Given the description of an element on the screen output the (x, y) to click on. 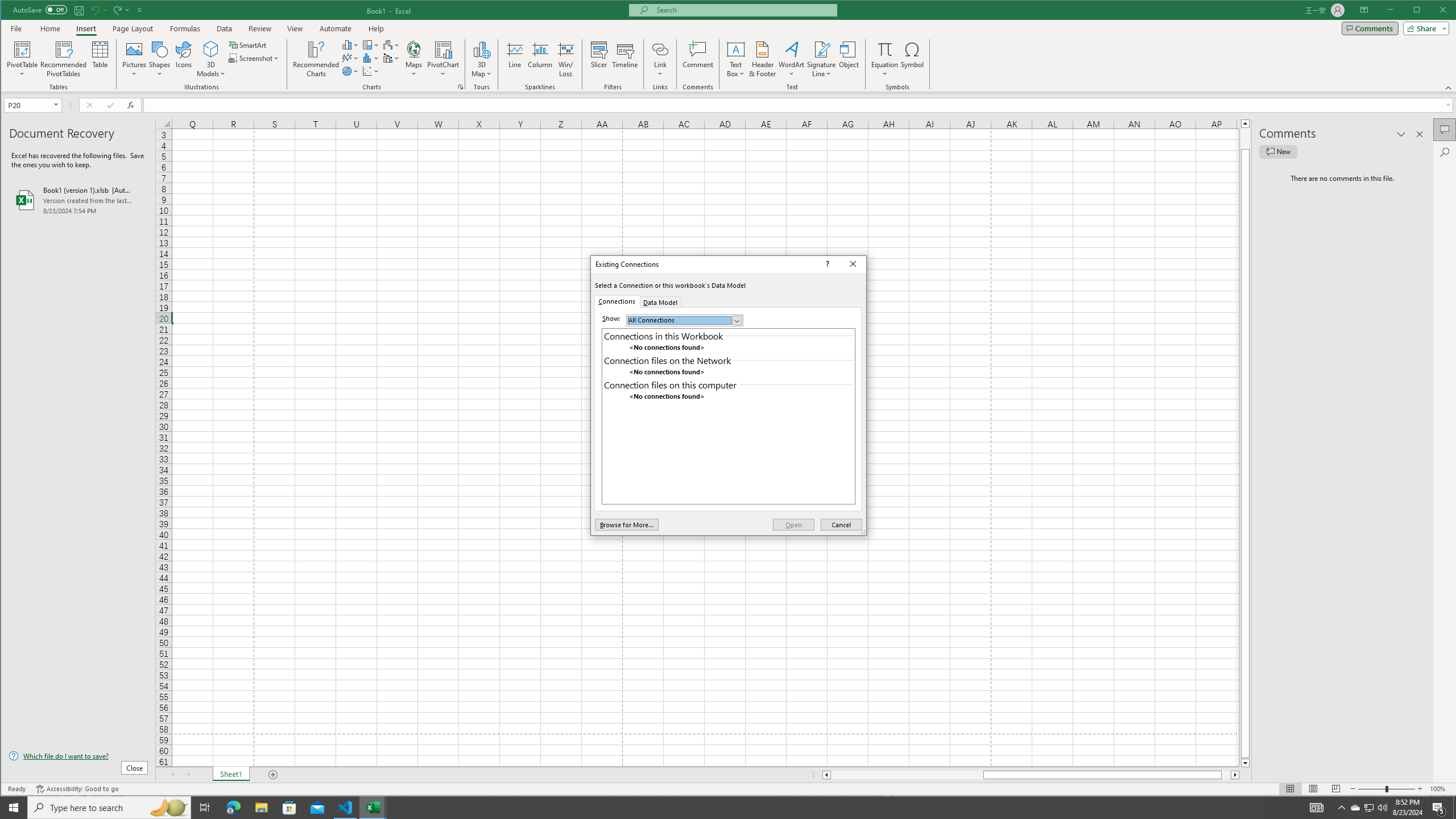
Slicer... (598, 59)
Connections (616, 300)
Link (659, 48)
Header & Footer... (762, 59)
Running applications (717, 807)
Object... (848, 59)
Connection files on this computer (728, 384)
